Given the description of an element on the screen output the (x, y) to click on. 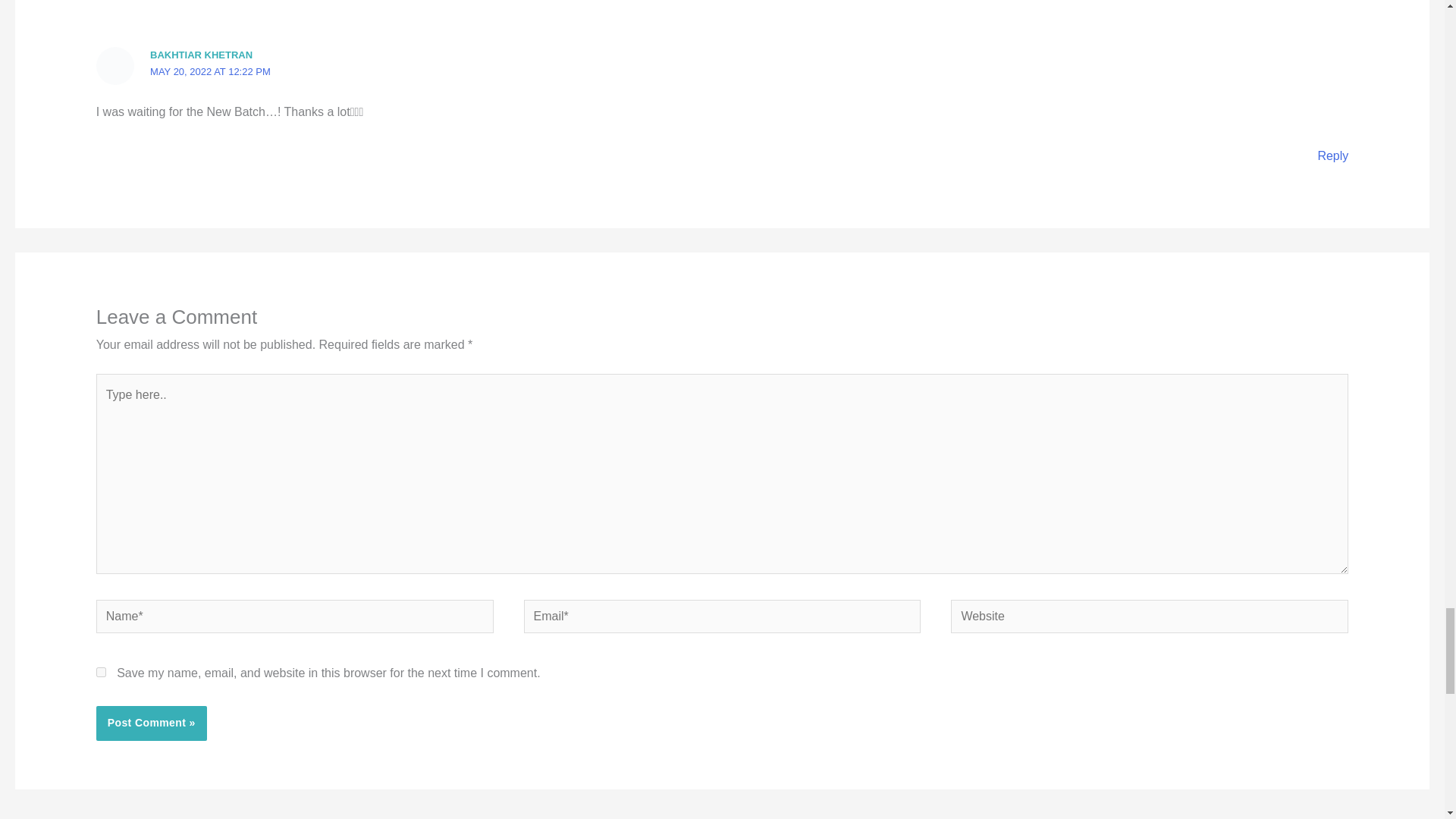
yes (101, 672)
